Given the description of an element on the screen output the (x, y) to click on. 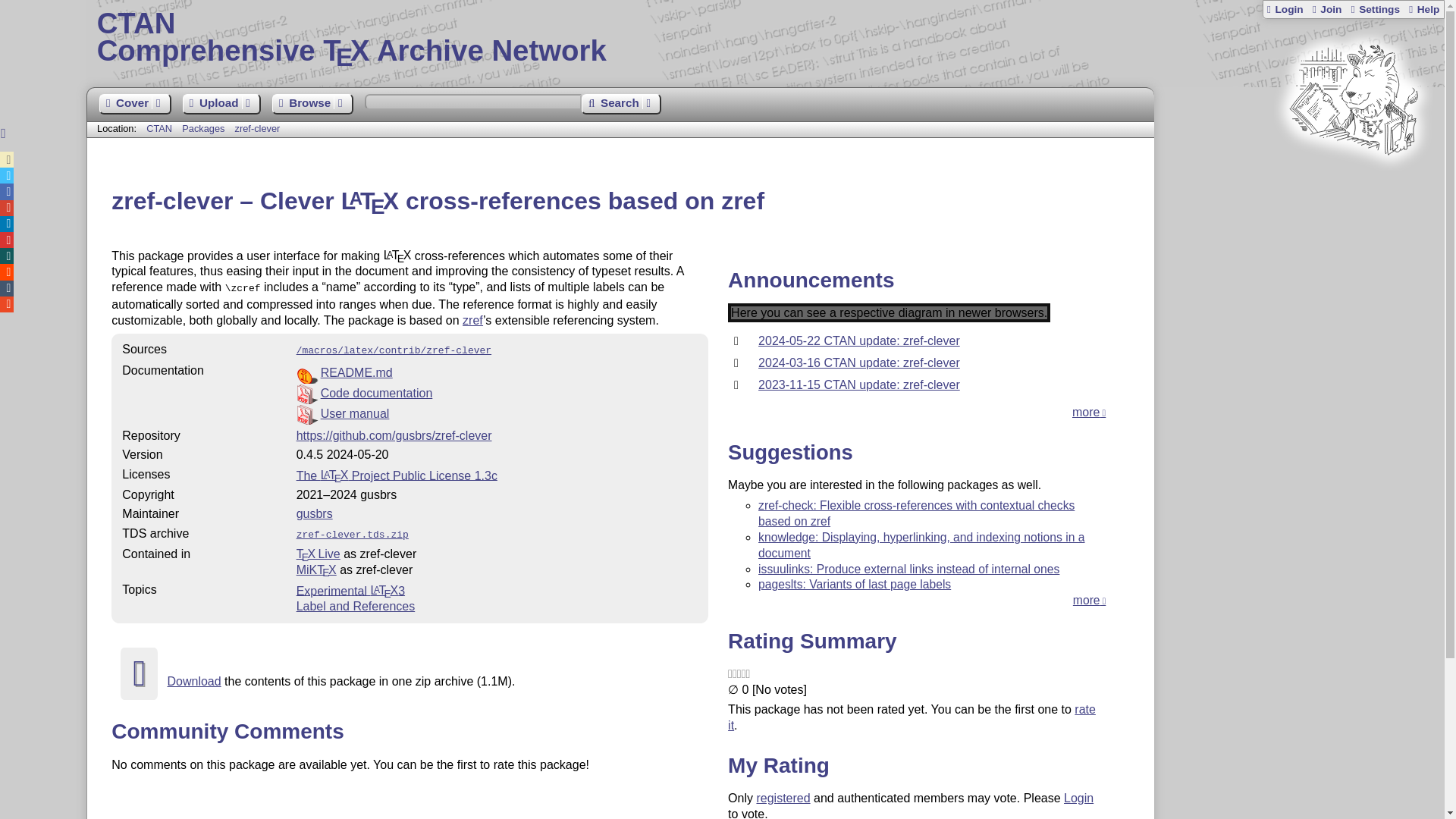
Portable Document Format (497, 414)
Login (1284, 8)
CTAN (159, 128)
Read Me file (497, 373)
zref-clever (257, 128)
Adjust the appearance to your taste (1374, 8)
Portable Document Format (497, 394)
Spectrum indicating the announcements for the package (888, 312)
Register a new personal account on this site (1325, 8)
zref (473, 319)
Cover (134, 104)
The LATEX Project Public License 1.3c (397, 474)
Settings (1374, 8)
Login with your personal account (1284, 8)
Search (620, 104)
